Given the description of an element on the screen output the (x, y) to click on. 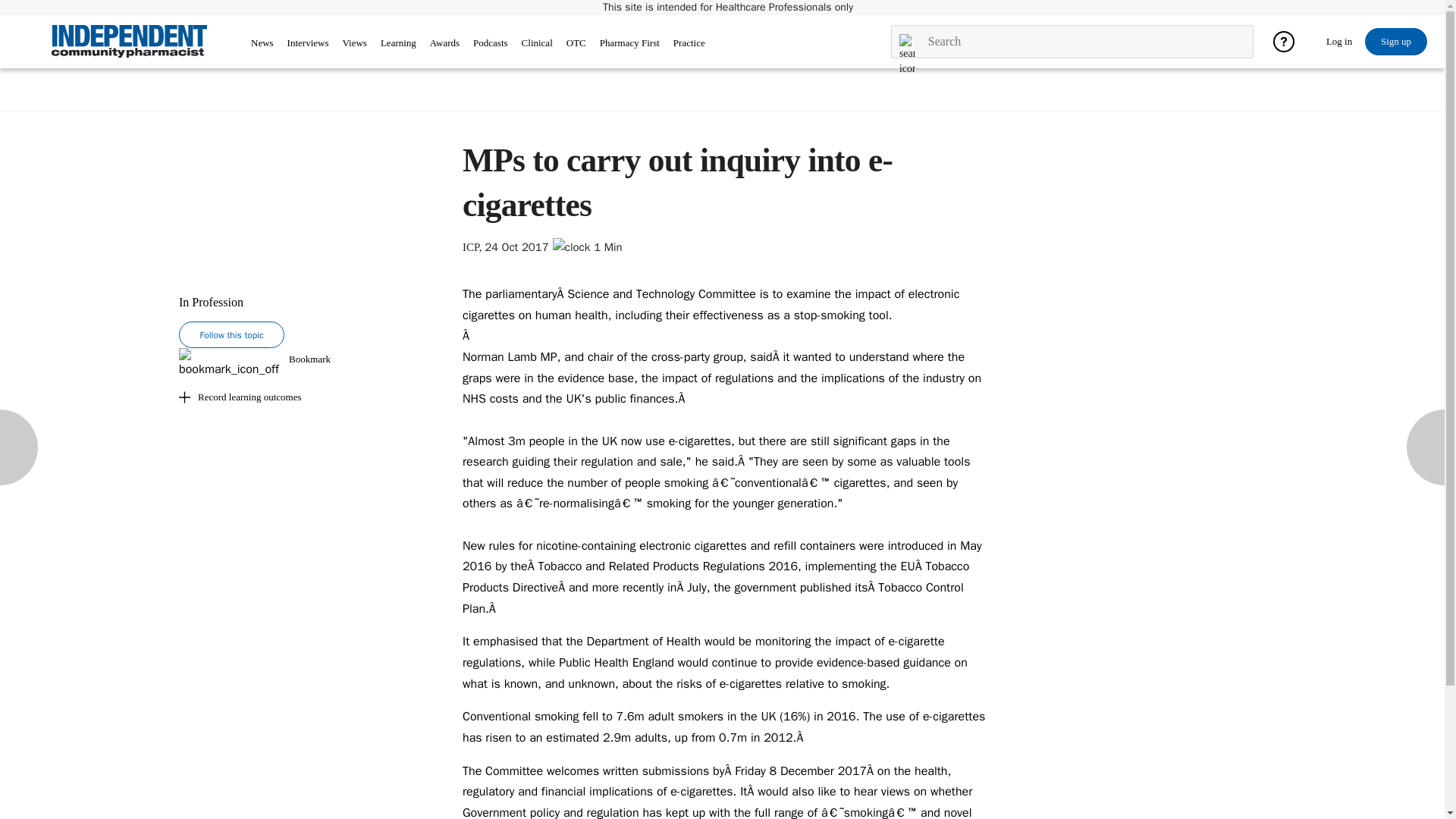
Views (354, 42)
Clinical (537, 42)
OTC (576, 42)
News (261, 42)
Podcasts (490, 44)
Learning (398, 42)
Interviews (307, 42)
Awards (444, 42)
Pharmacy First (629, 44)
Practice (688, 42)
